Given the description of an element on the screen output the (x, y) to click on. 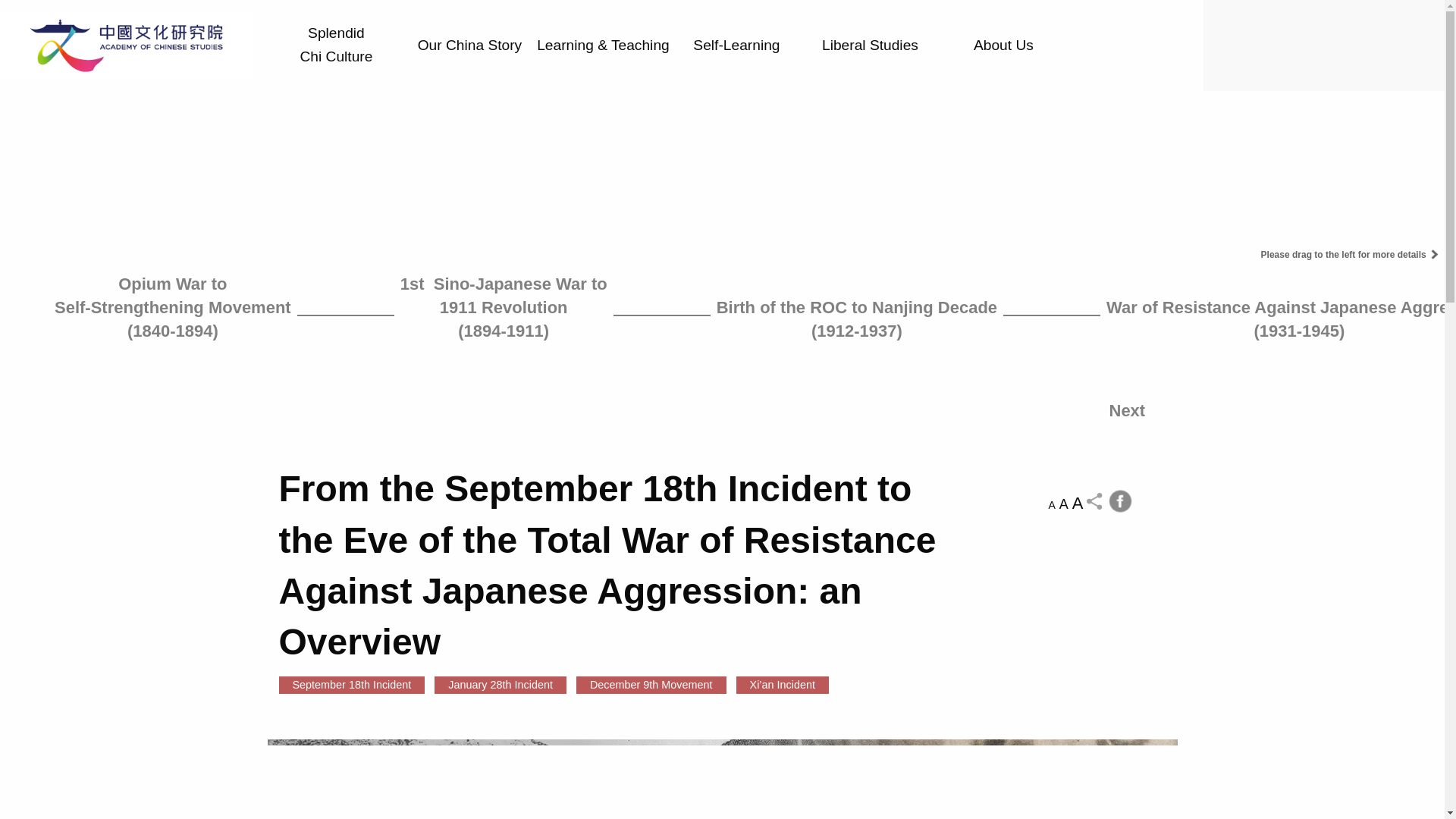
Our China Story (469, 45)
Self-Learning (736, 45)
About Us (336, 45)
Liberal Studies (1003, 45)
